Given the description of an element on the screen output the (x, y) to click on. 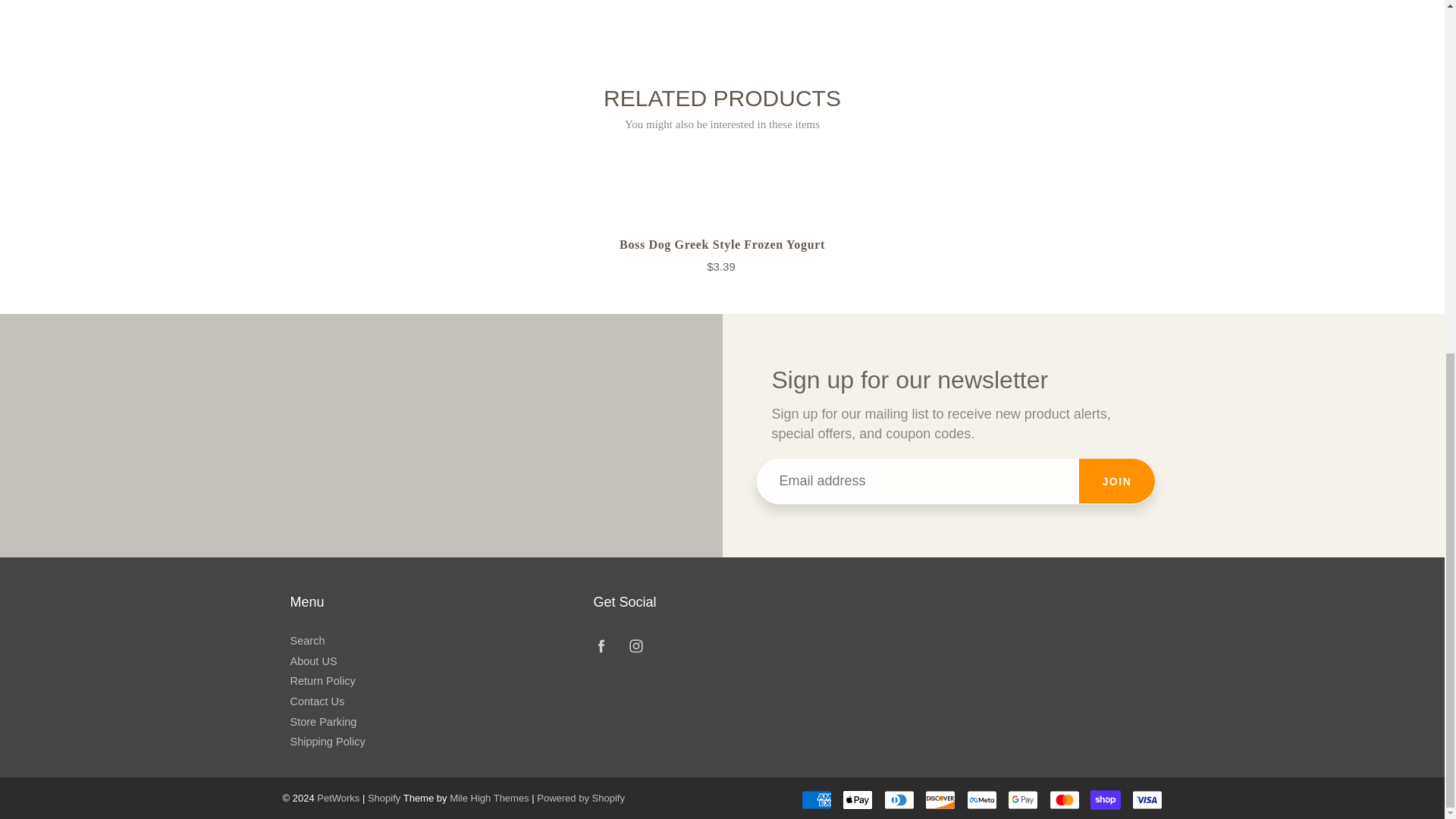
Visa (1146, 799)
Diners Club (898, 799)
American Express (816, 799)
Instagram (636, 646)
Google Pay (1022, 799)
Discover (939, 799)
Apple Pay (857, 799)
Facebook (601, 646)
Mastercard (1064, 799)
Shop Pay (1105, 799)
